Given the description of an element on the screen output the (x, y) to click on. 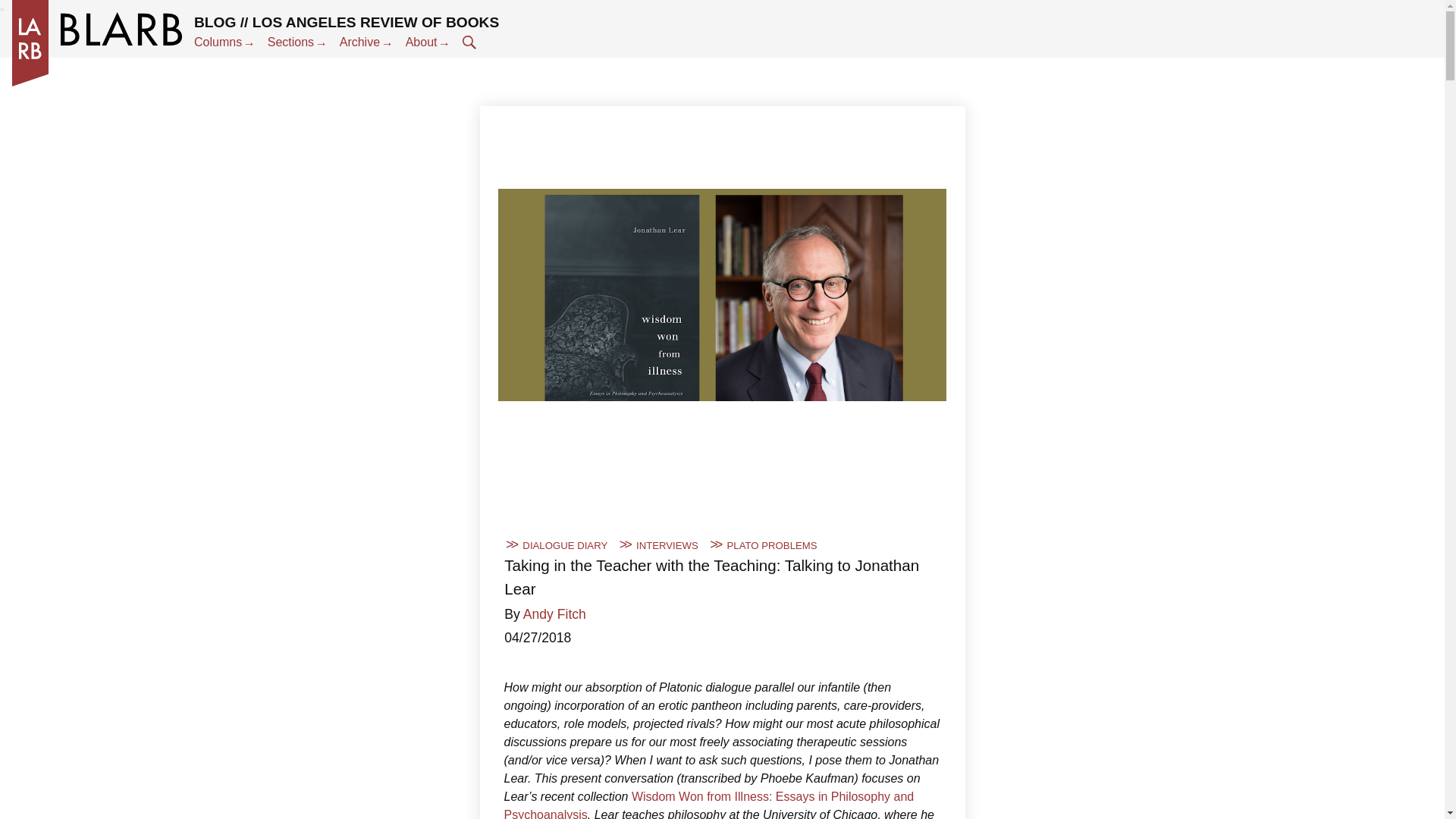
Columns (224, 42)
Sections (297, 42)
